Given the description of an element on the screen output the (x, y) to click on. 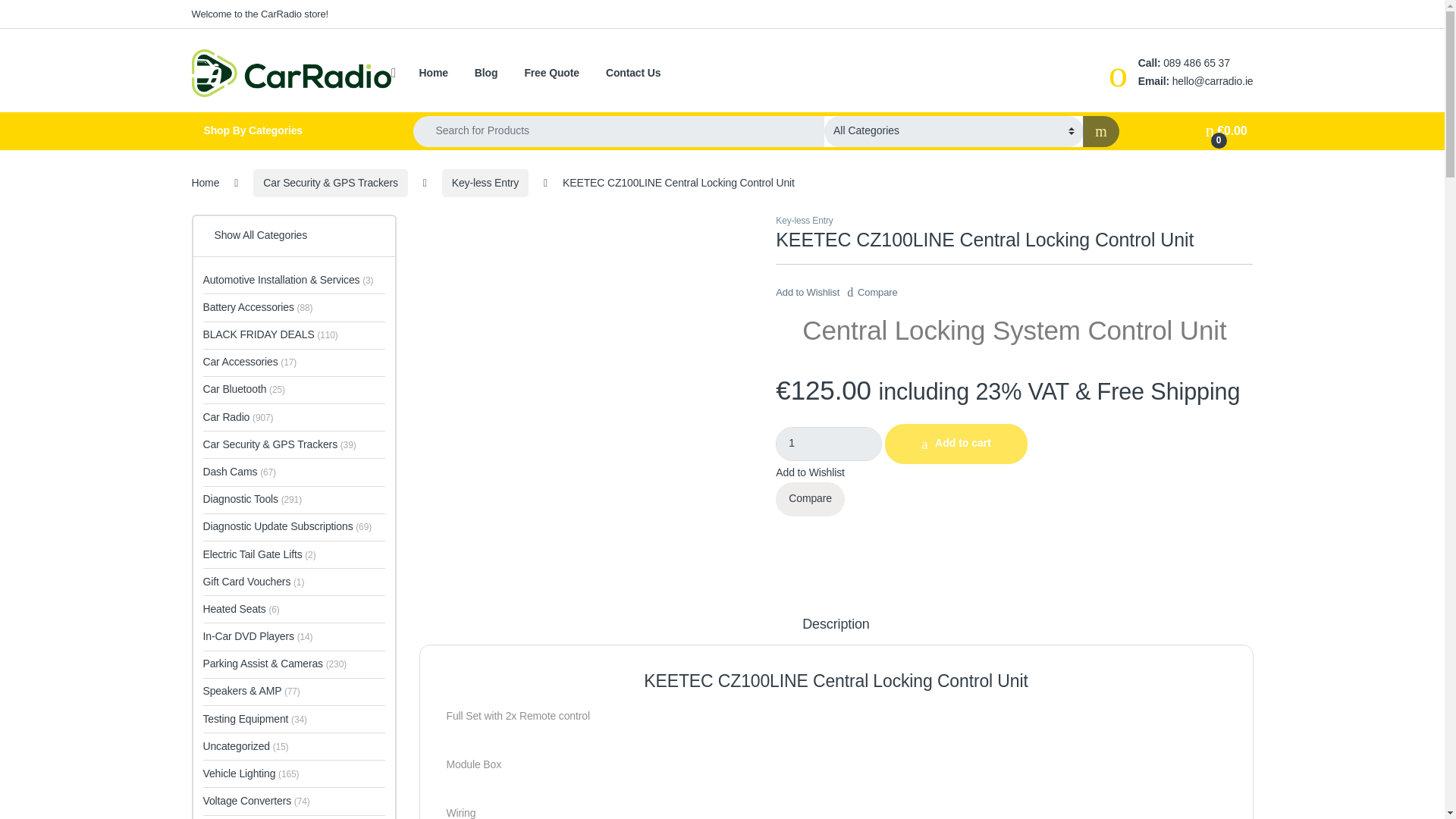
Welcome to the CarRadio store! (259, 13)
1 (829, 443)
Welcome to the CarRadio store! (259, 13)
